Given the description of an element on the screen output the (x, y) to click on. 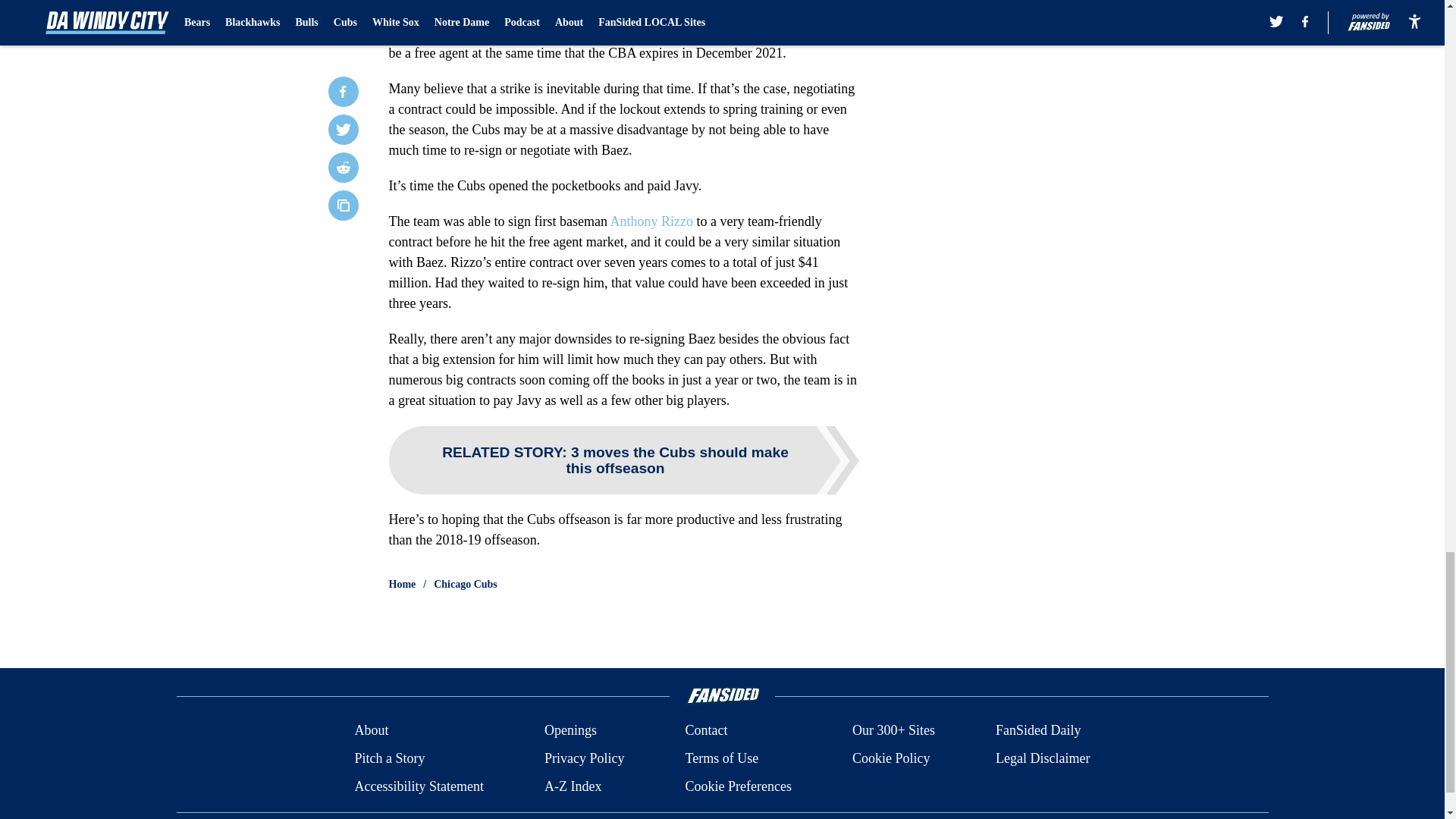
Accessibility Statement (418, 786)
Contact (705, 730)
Privacy Policy (584, 758)
A-Z Index (572, 786)
Pitch a Story (389, 758)
Openings (570, 730)
About (370, 730)
Legal Disclaimer (1042, 758)
Cookie Policy (890, 758)
Terms of Use (721, 758)
